Given the description of an element on the screen output the (x, y) to click on. 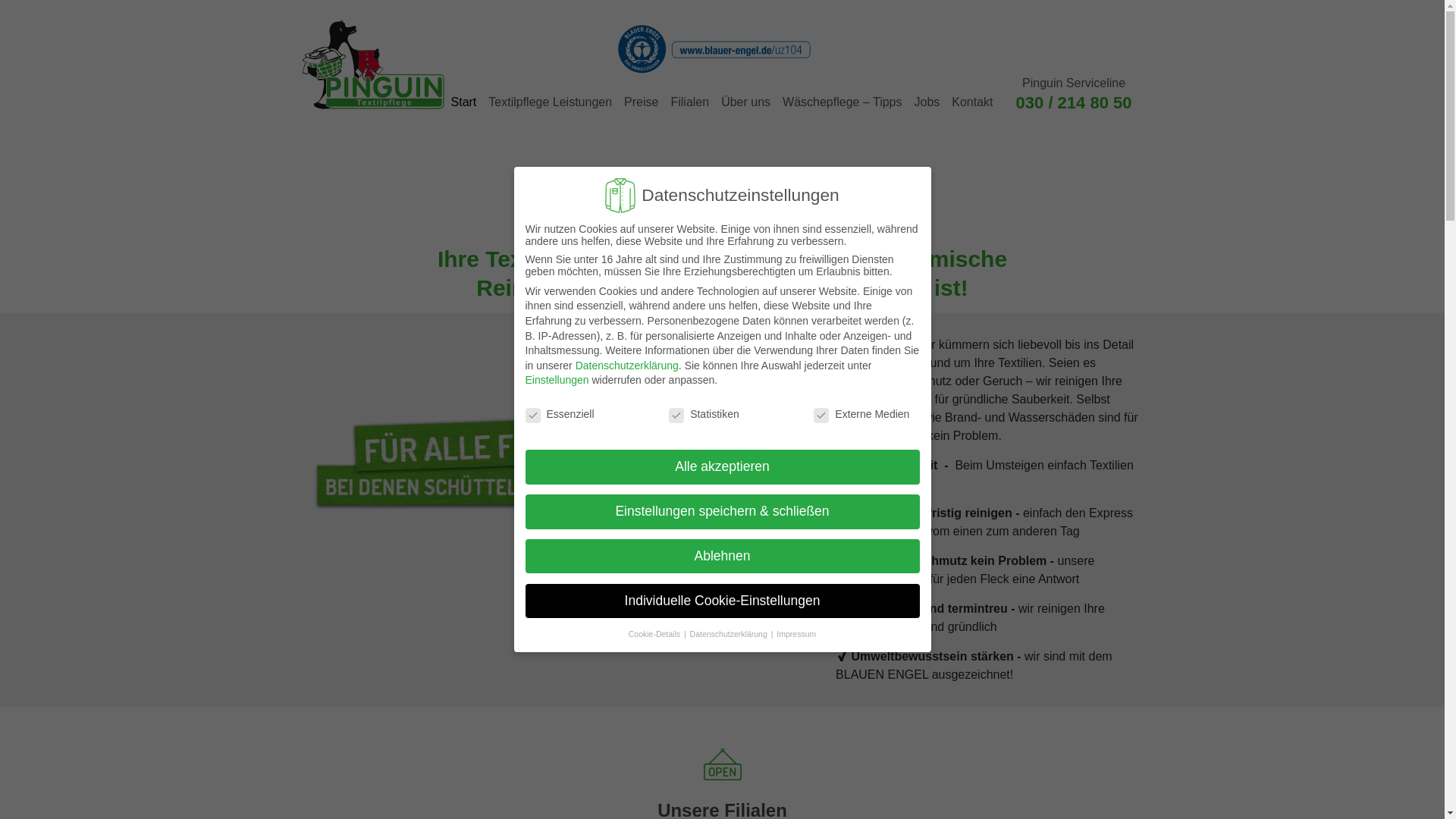
Start (464, 101)
Kontakt (971, 101)
Preise (640, 101)
Filialen (688, 101)
Start (464, 101)
Textilpflege Leistungen (549, 101)
Jobs (925, 101)
Jetzt Abhol- und Lieferservice nutzen! (722, 187)
Filialen (688, 101)
Textilpflege Leistungen (549, 101)
Jobs (925, 101)
Preise (640, 101)
Kontakt (971, 101)
